Given the description of an element on the screen output the (x, y) to click on. 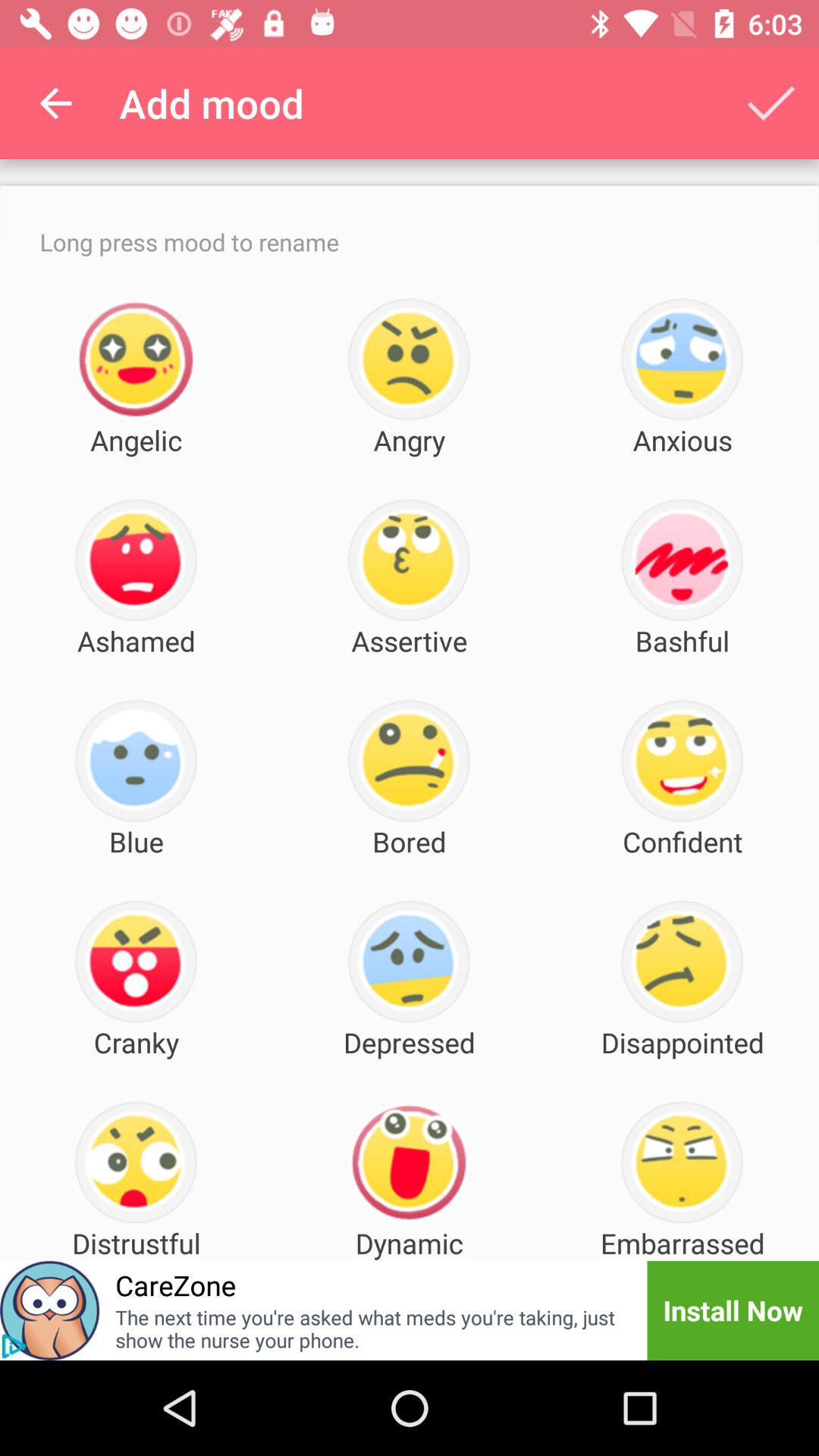
turn off the item next to dynamic icon (175, 1285)
